Given the description of an element on the screen output the (x, y) to click on. 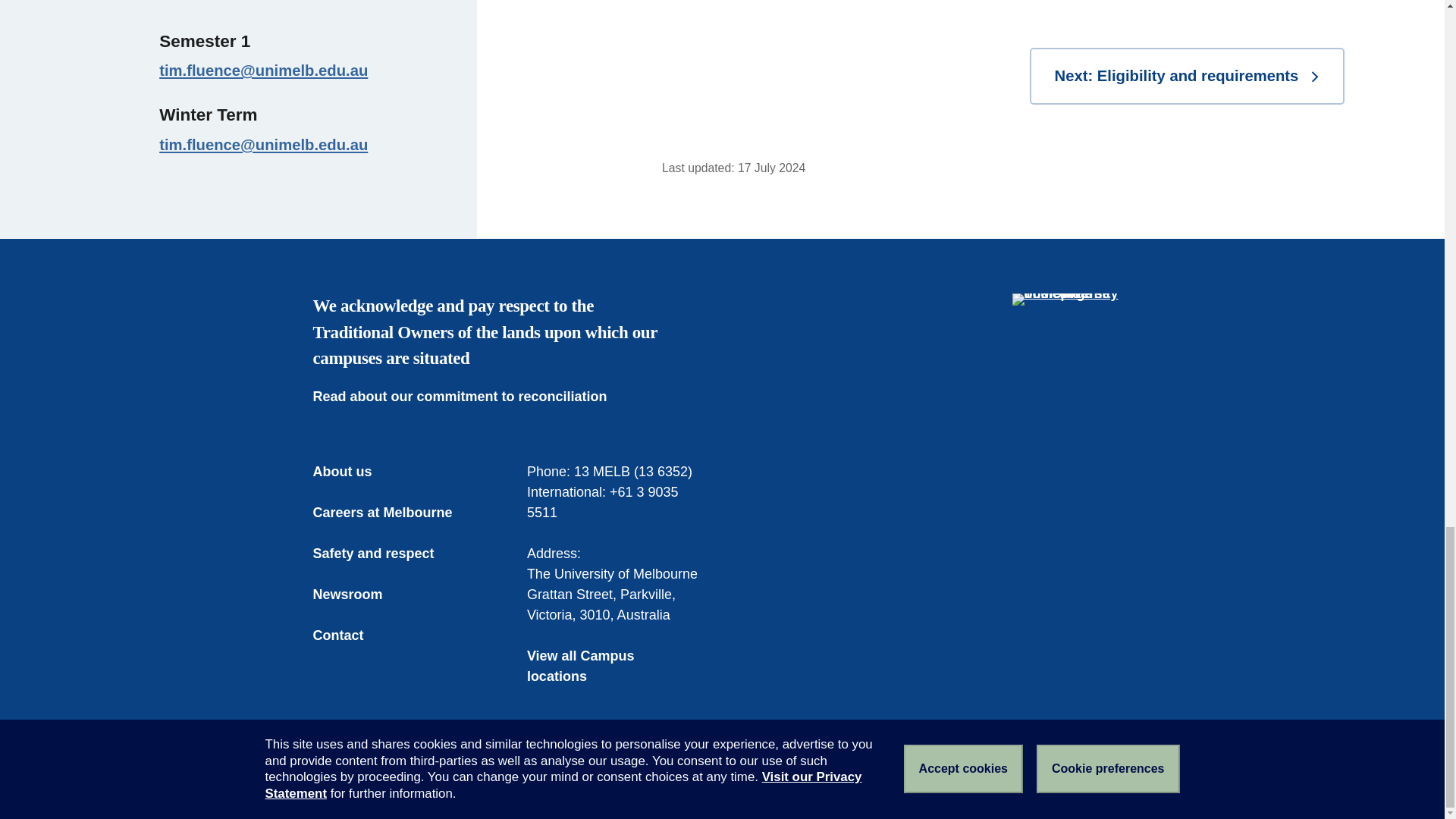
Careers at Melbourne (393, 512)
Contact (349, 635)
About us (353, 471)
View all Campus locations (615, 666)
Safety and respect (384, 553)
Emergency (345, 780)
Read about our commitment to reconciliation (470, 396)
Newsroom (358, 594)
Privacy (604, 780)
Accessibility (532, 780)
